Given the description of an element on the screen output the (x, y) to click on. 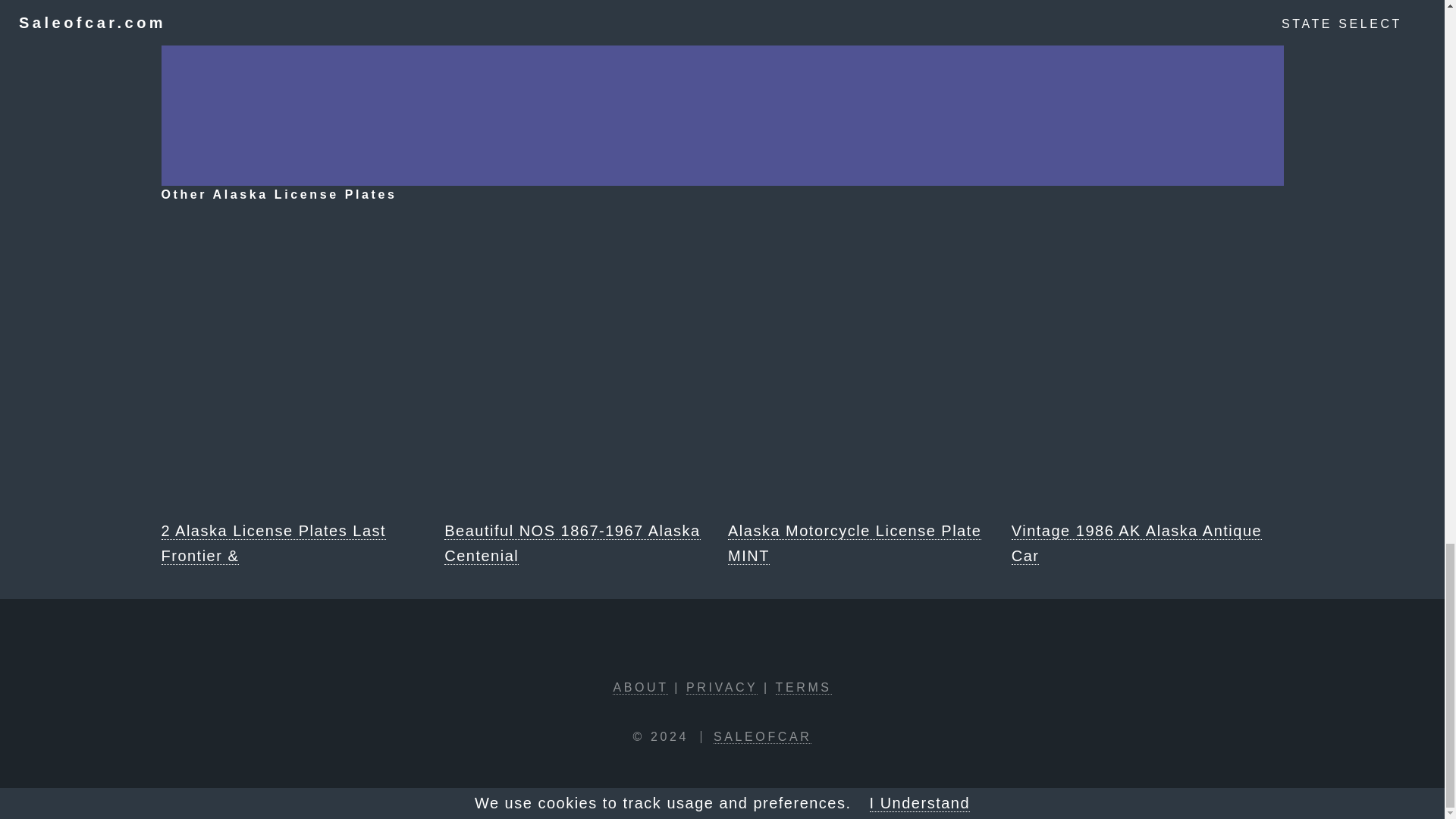
TERMS (803, 687)
ABOUT (640, 687)
PRIVACY (721, 687)
SALEOFCAR (761, 736)
